Given the description of an element on the screen output the (x, y) to click on. 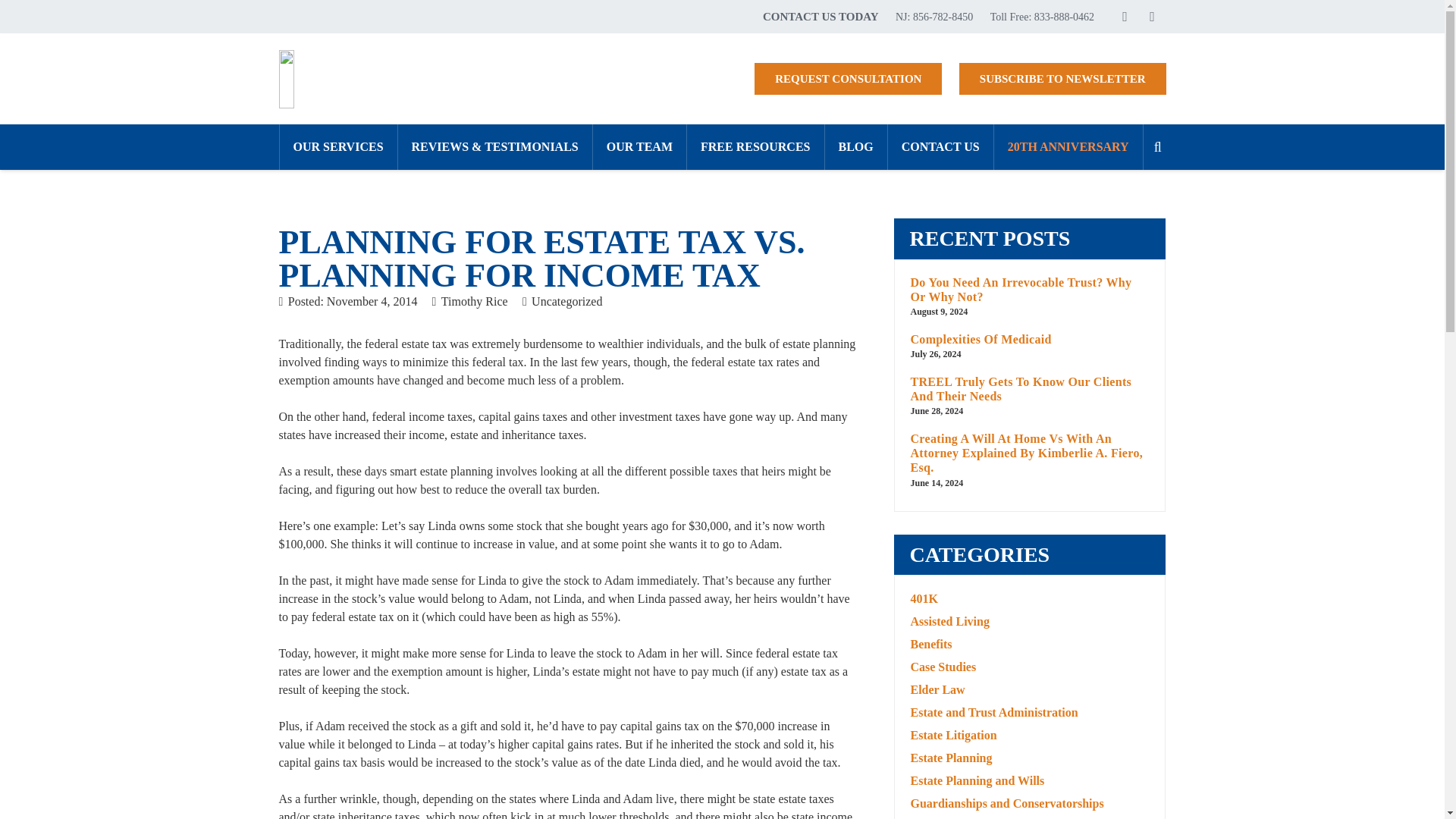
OUR SERVICES (337, 146)
BLOG (855, 146)
Facebook (1125, 16)
YouTube (1152, 16)
OUR TEAM (638, 146)
FREE RESOURCES (755, 146)
CONTACT US (940, 146)
REQUEST CONSULTATION (848, 79)
SUBSCRIBE TO NEWSLETTER (1062, 79)
20TH ANNIVERSARY (1068, 146)
